Given the description of an element on the screen output the (x, y) to click on. 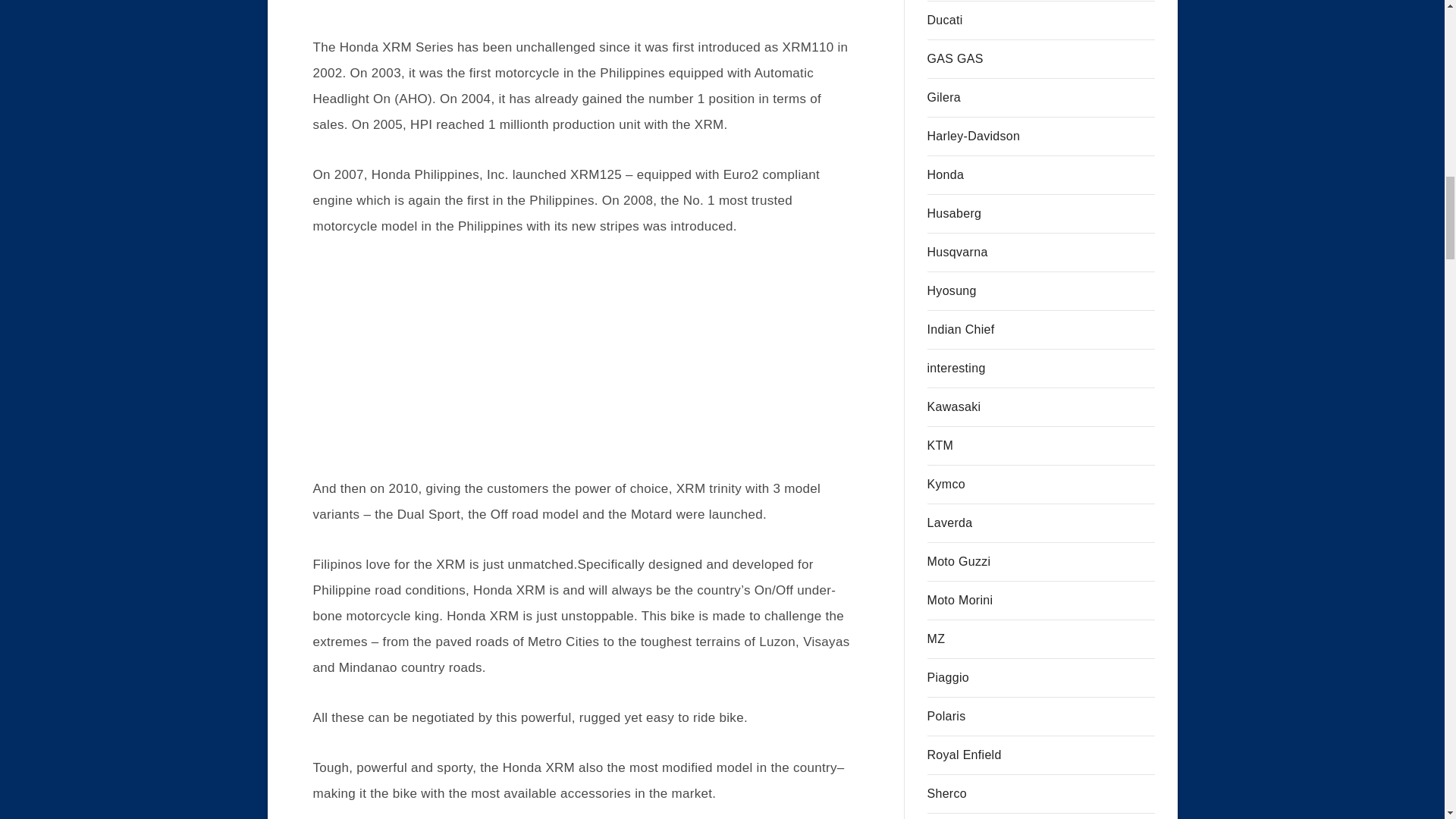
Advertisement (585, 17)
Advertisement (585, 366)
